Given the description of an element on the screen output the (x, y) to click on. 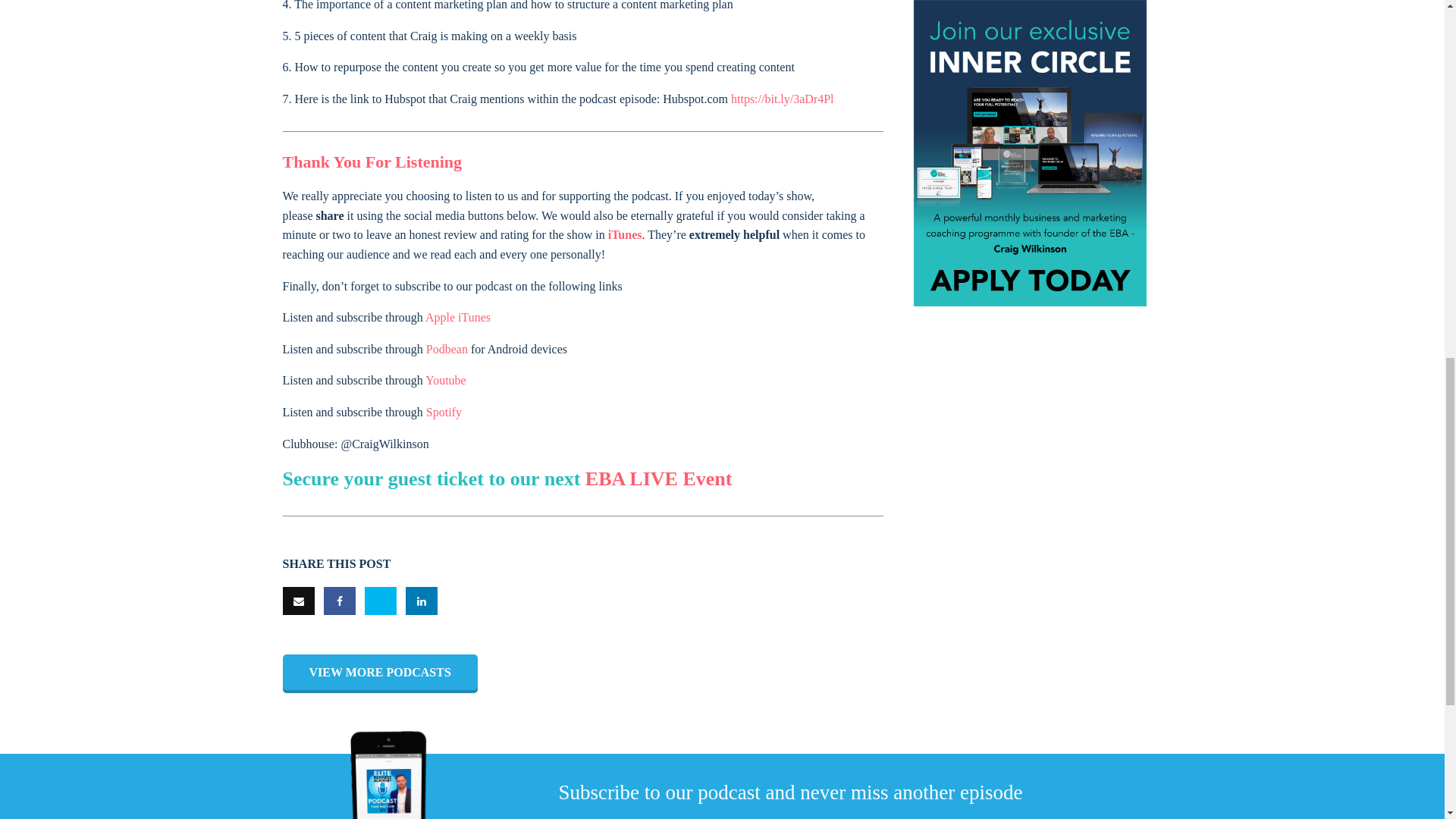
Podbean (446, 349)
Spotify (443, 411)
Apple iTunes (457, 317)
VIEW MORE PODCASTS (379, 673)
iTunes (625, 234)
Youtube (445, 379)
EBA LIVE Event (658, 478)
